Given the description of an element on the screen output the (x, y) to click on. 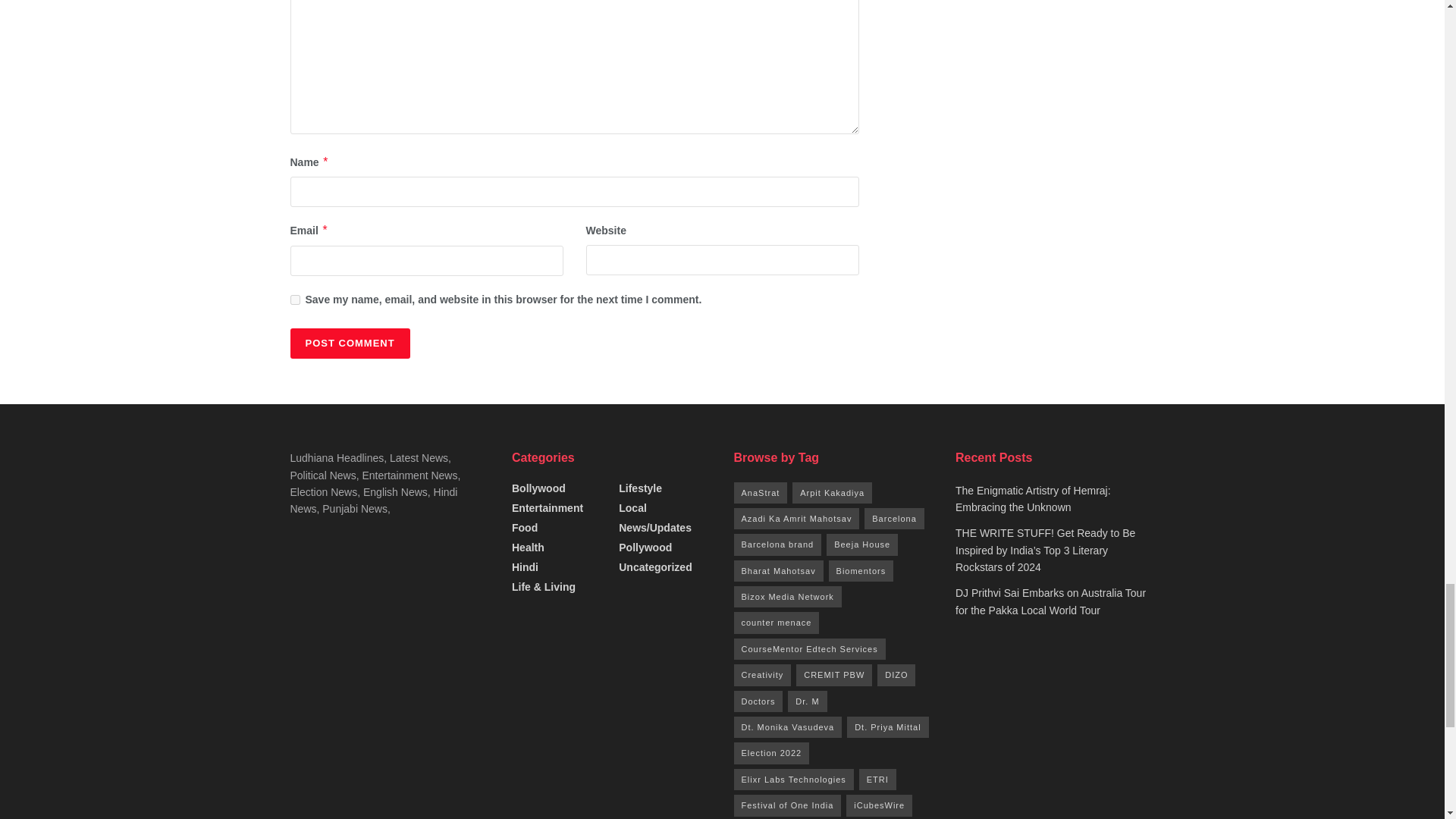
Post Comment (349, 343)
yes (294, 299)
